Given the description of an element on the screen output the (x, y) to click on. 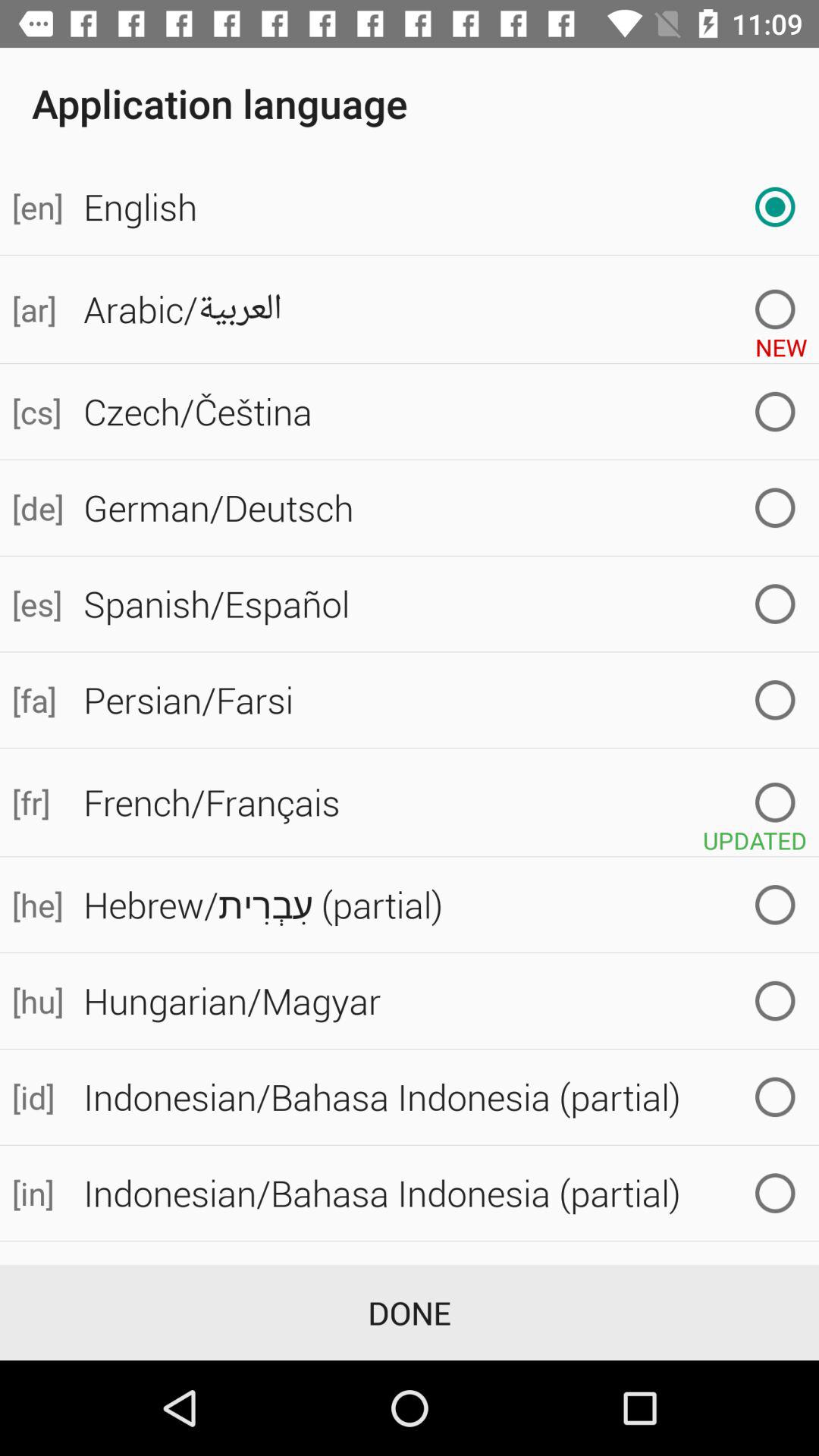
choose the icon below the italian/italiano icon (409, 1312)
